Given the description of an element on the screen output the (x, y) to click on. 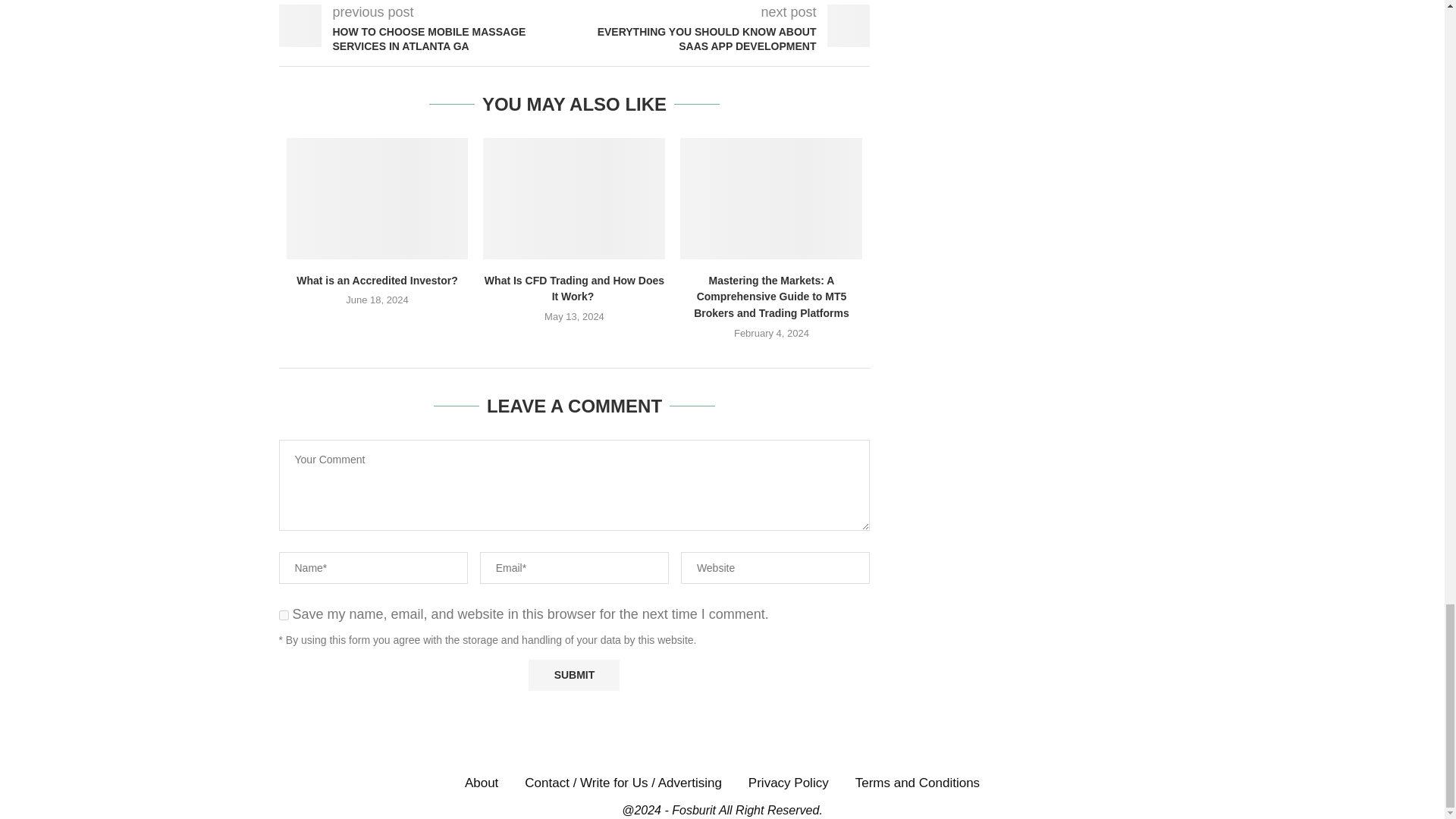
yes (283, 614)
What is an Accredited Investor? (377, 198)
HOW TO CHOOSE MOBILE MASSAGE SERVICES IN ATLANTA GA (427, 39)
Submit (574, 675)
EVERYTHING YOU SHOULD KNOW ABOUT SAAS APP DEVELOPMENT (722, 39)
